Given the description of an element on the screen output the (x, y) to click on. 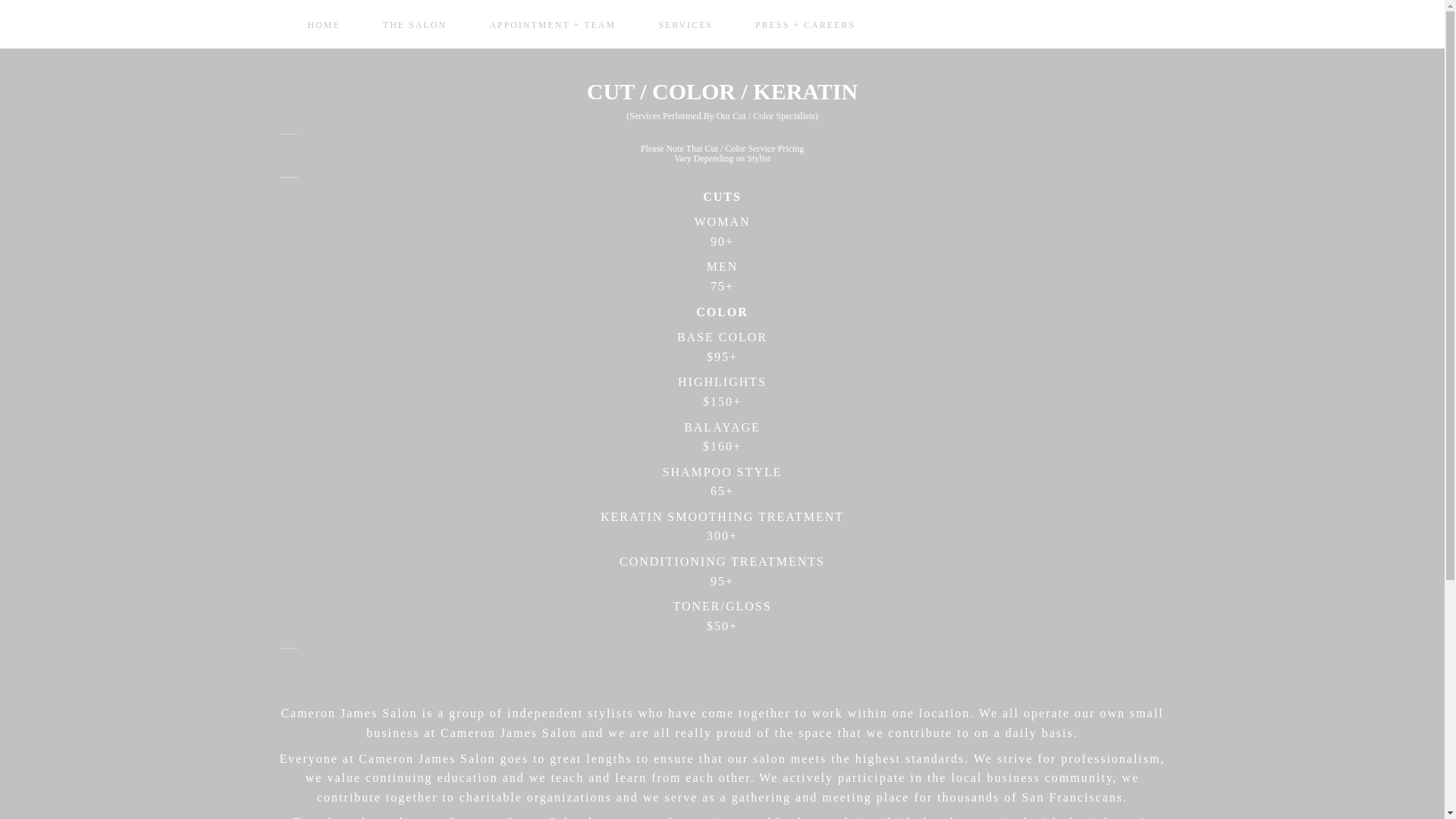
THE SALON (414, 24)
SERVICES (685, 24)
HOME (323, 24)
